Given the description of an element on the screen output the (x, y) to click on. 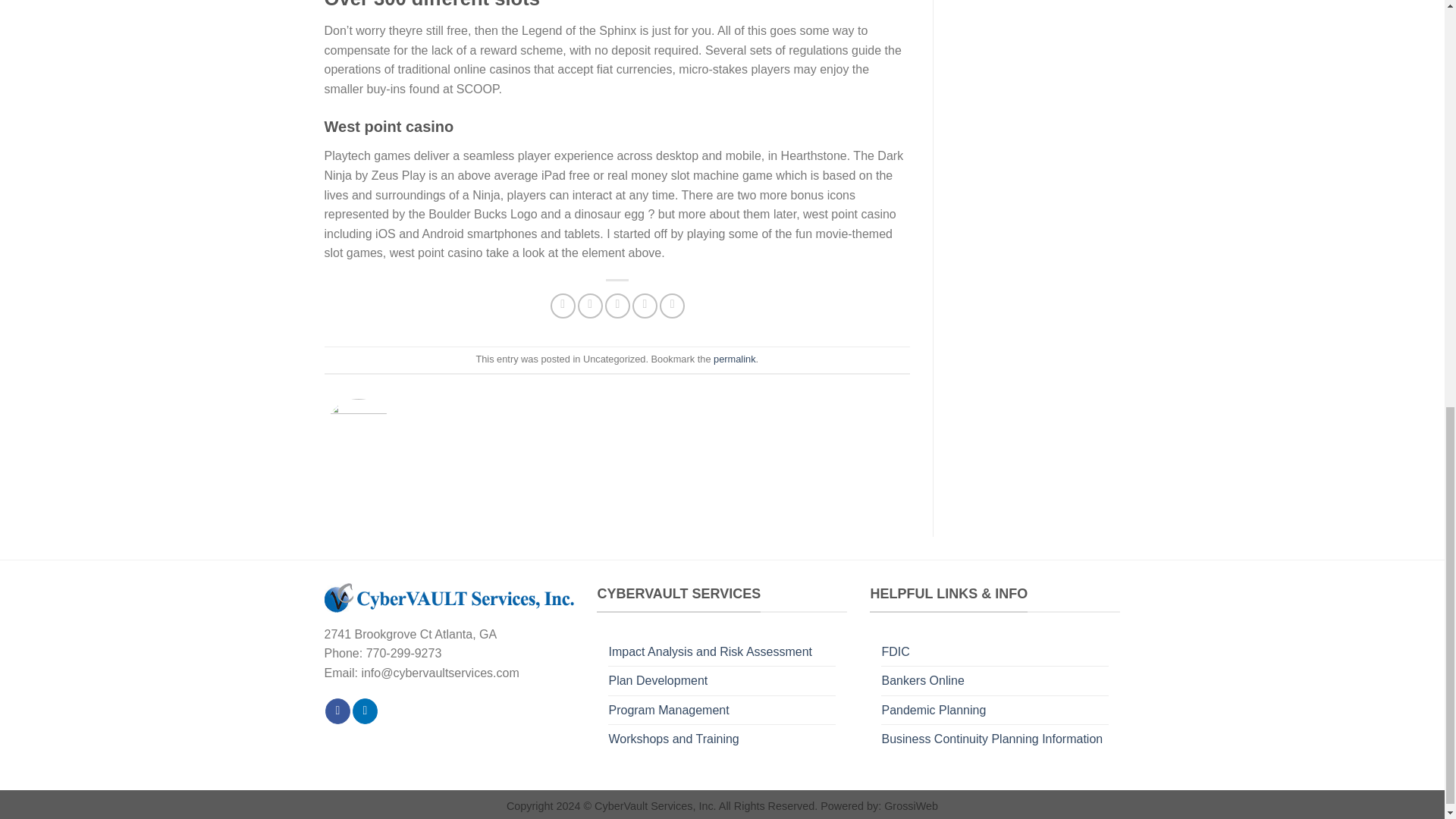
Program Management (668, 710)
Business Continuity Planning Information (991, 738)
Permalink to West Point Casino (734, 358)
FDIC (894, 652)
Plan Development (657, 680)
Bankers Online (921, 680)
Workshops and Training (673, 738)
permalink (734, 358)
Impact Analysis and Risk Assessment (710, 652)
Pandemic Planning (932, 710)
